Given the description of an element on the screen output the (x, y) to click on. 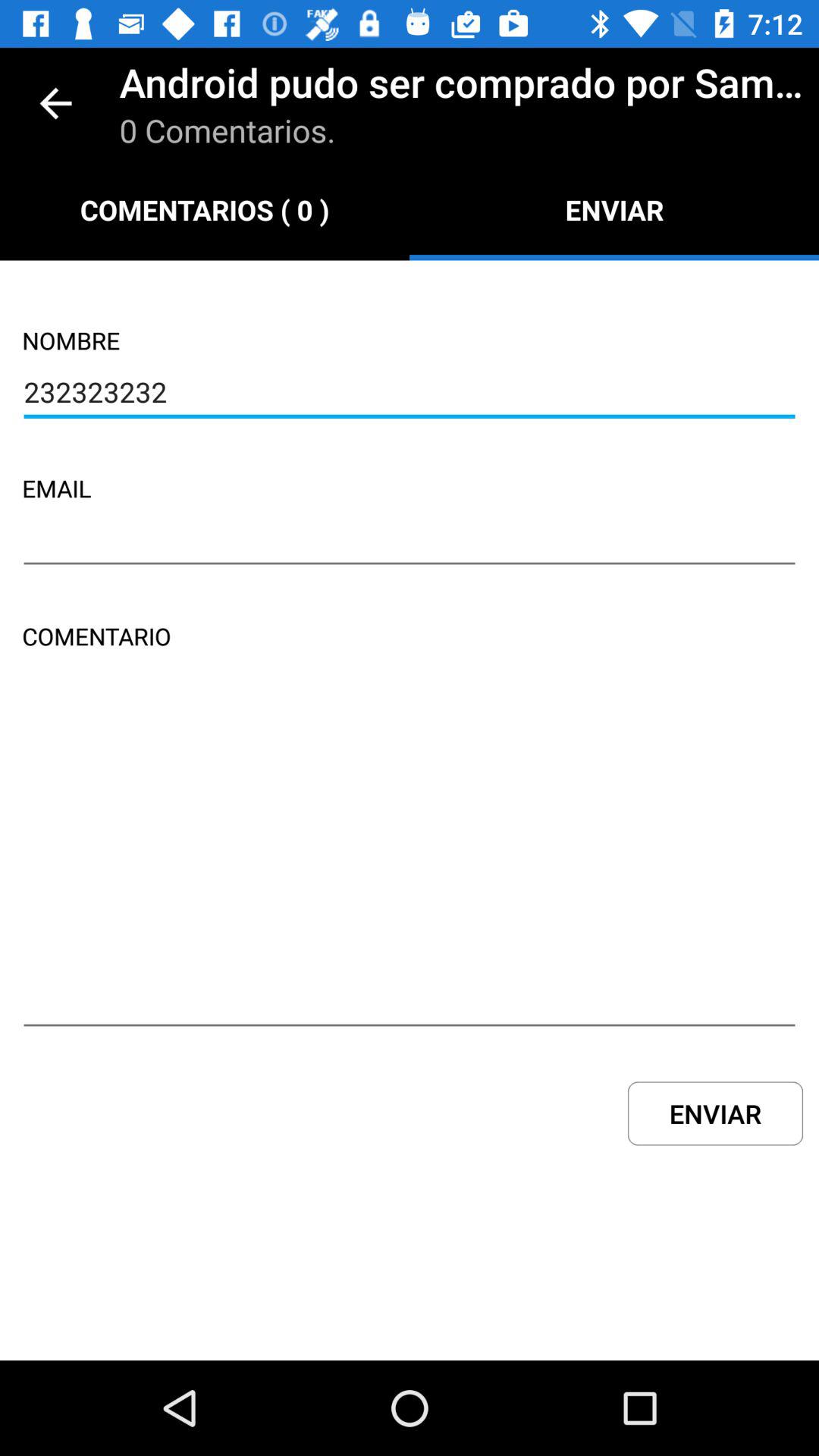
choose item below email (409, 542)
